Given the description of an element on the screen output the (x, y) to click on. 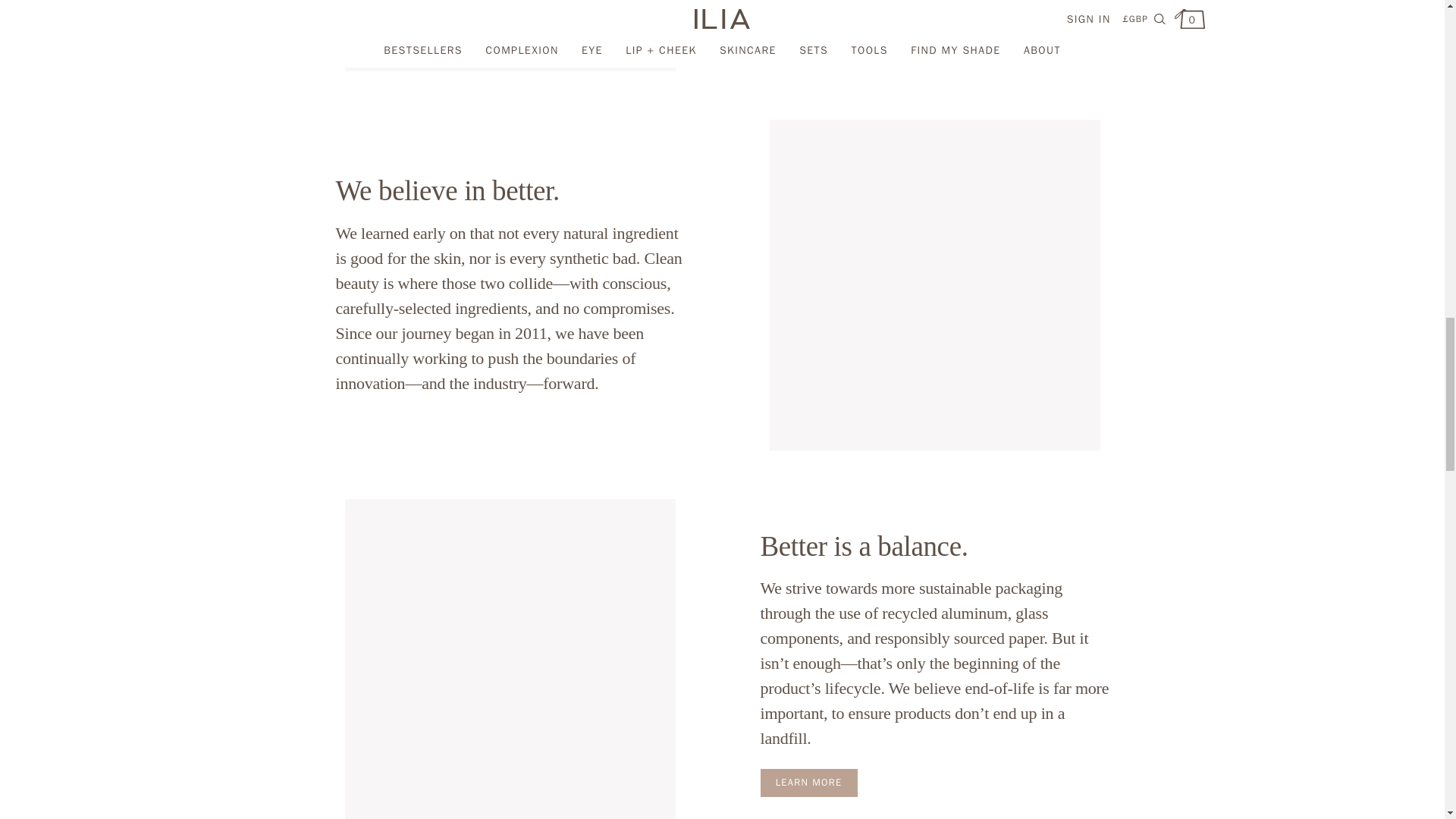
LEARN MORE (808, 782)
